Given the description of an element on the screen output the (x, y) to click on. 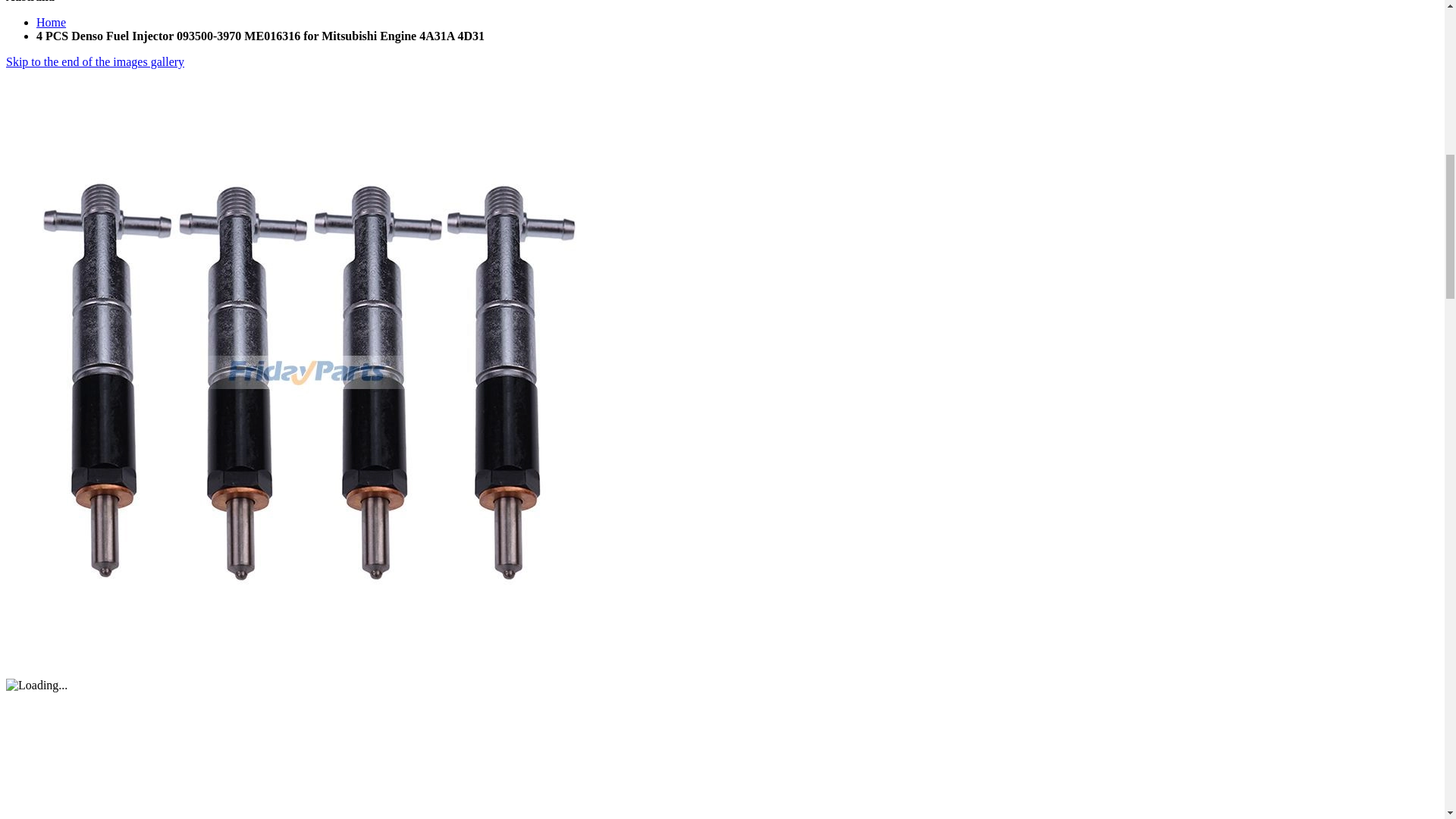
Go to Home Page (50, 21)
Home (50, 21)
Skip to the end of the images gallery (94, 61)
